Given the description of an element on the screen output the (x, y) to click on. 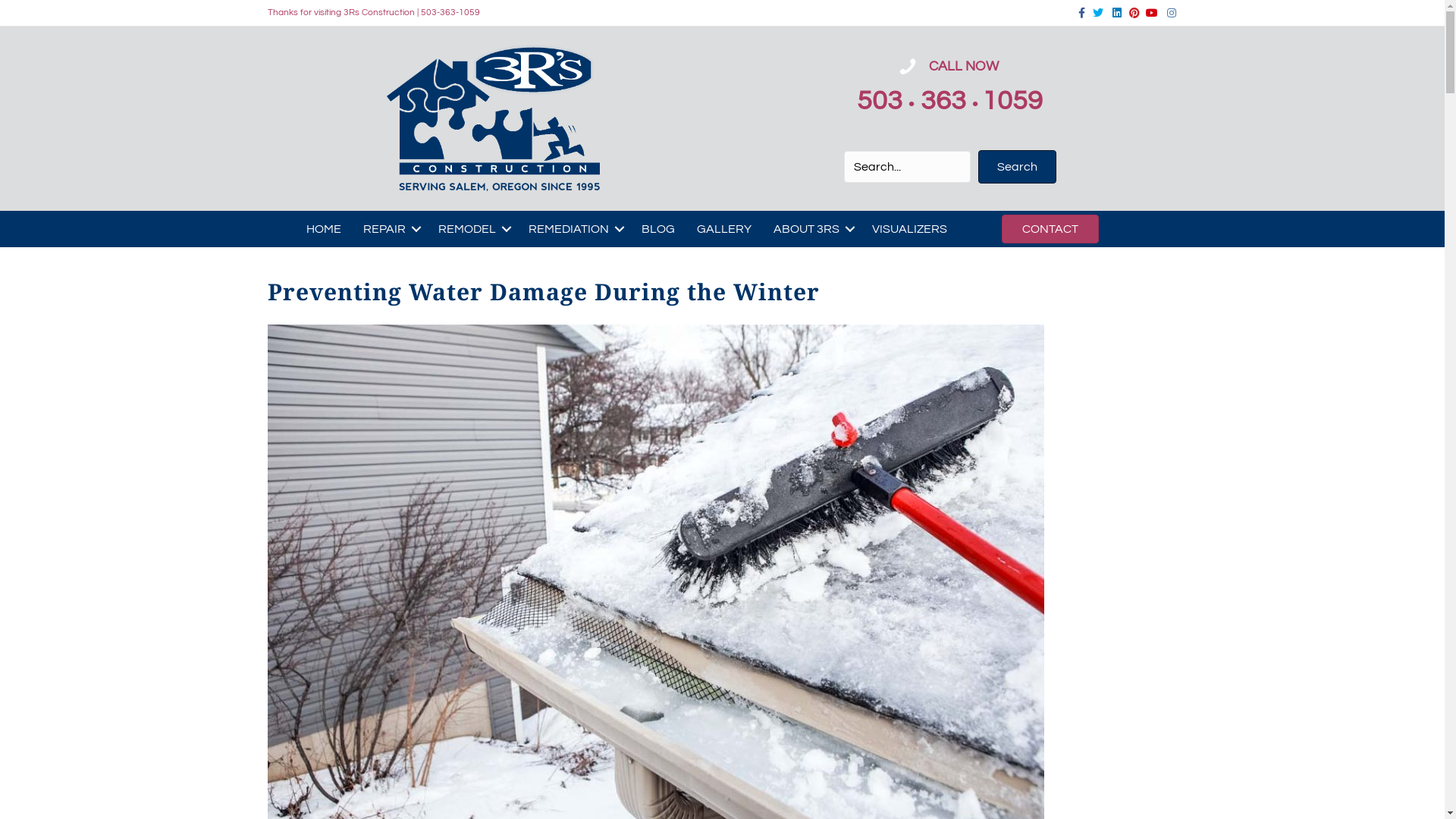
BLOG Element type: text (657, 228)
REMODEL Element type: text (472, 228)
Instagram Element type: text (1166, 12)
Youtube Element type: text (1148, 12)
Pinterest Element type: text (1129, 12)
HOME Element type: text (323, 228)
Facebook Element type: text (1075, 12)
CONTACT Element type: text (1049, 228)
Linkedin Element type: text (1111, 12)
3Rs-full-logo-transparent-with-city-and-date Element type: hover (494, 118)
CALL NOW  Element type: text (964, 66)
REMEDIATION Element type: text (573, 228)
Search Element type: text (1017, 166)
ABOUT 3RS Element type: text (811, 228)
GALLERY Element type: text (724, 228)
Twitter Element type: text (1093, 12)
REPAIR Element type: text (389, 228)
VISUALIZERS Element type: text (909, 228)
